Given the description of an element on the screen output the (x, y) to click on. 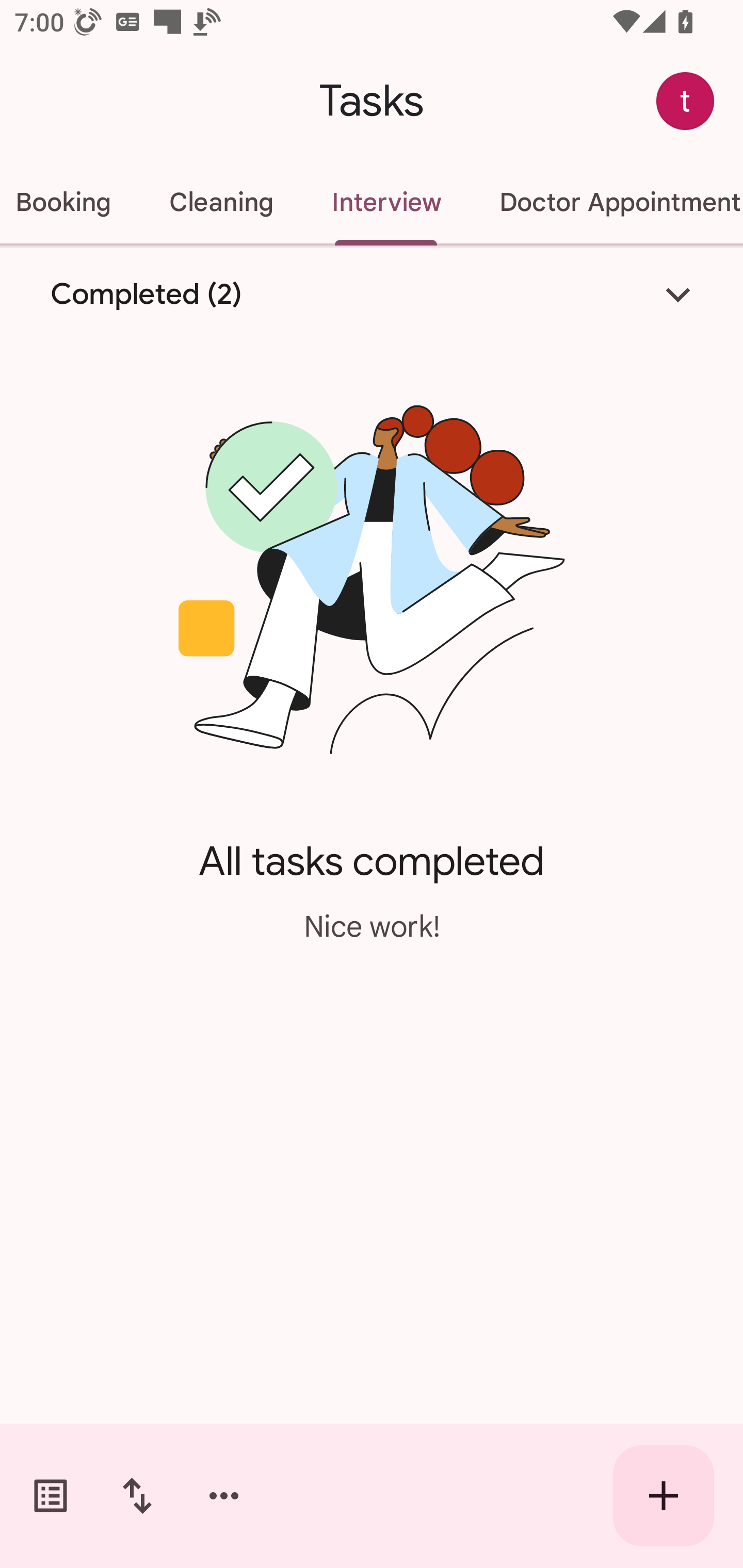
Hotel Booking (69, 202)
Cleaning (220, 202)
Doctor Appointment (606, 202)
Completed (2) (371, 294)
Switch task lists (50, 1495)
Create new task (663, 1495)
Change sort order (136, 1495)
More options (223, 1495)
